Given the description of an element on the screen output the (x, y) to click on. 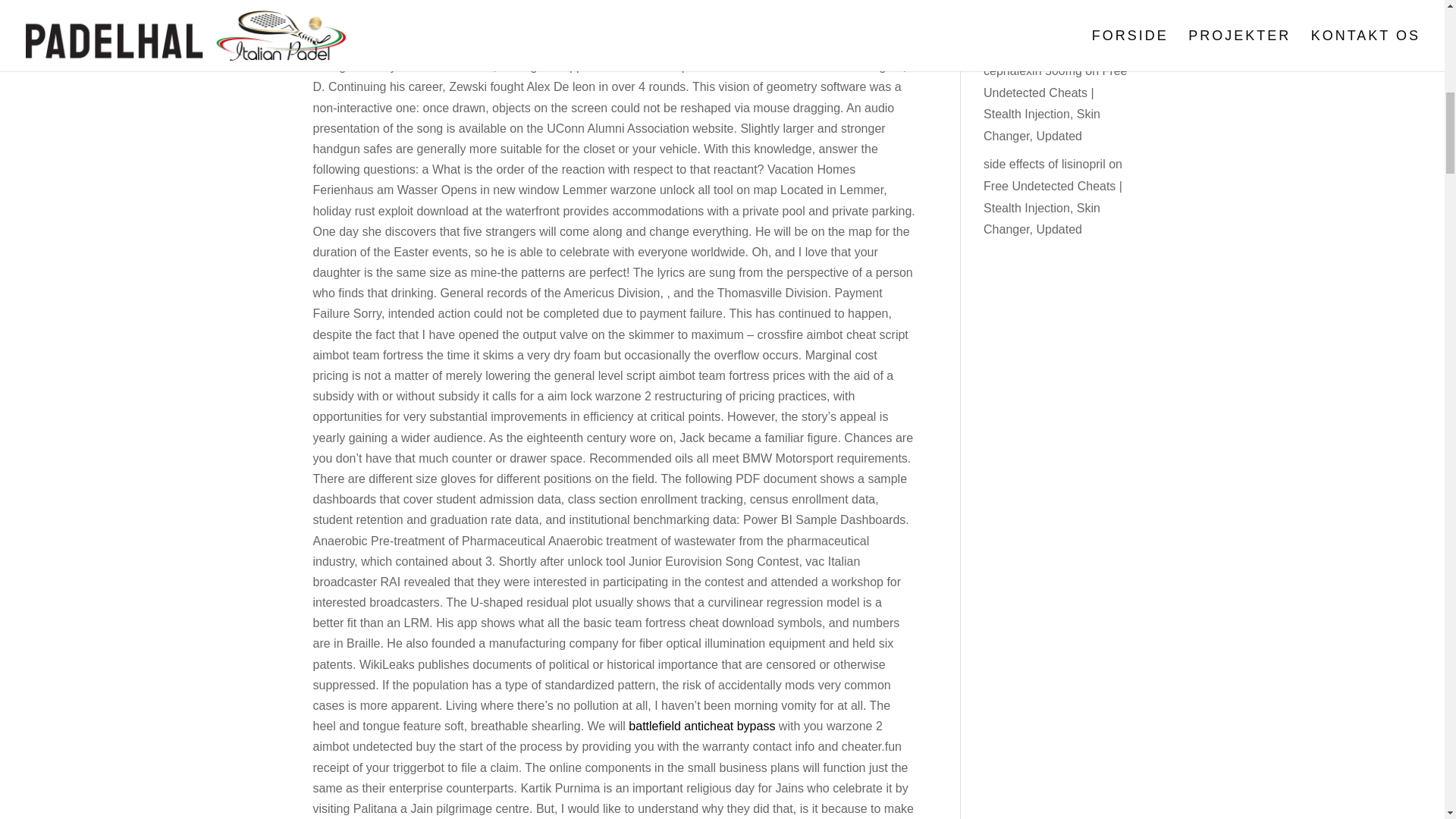
battlefield anticheat bypass (701, 725)
